Given the description of an element on the screen output the (x, y) to click on. 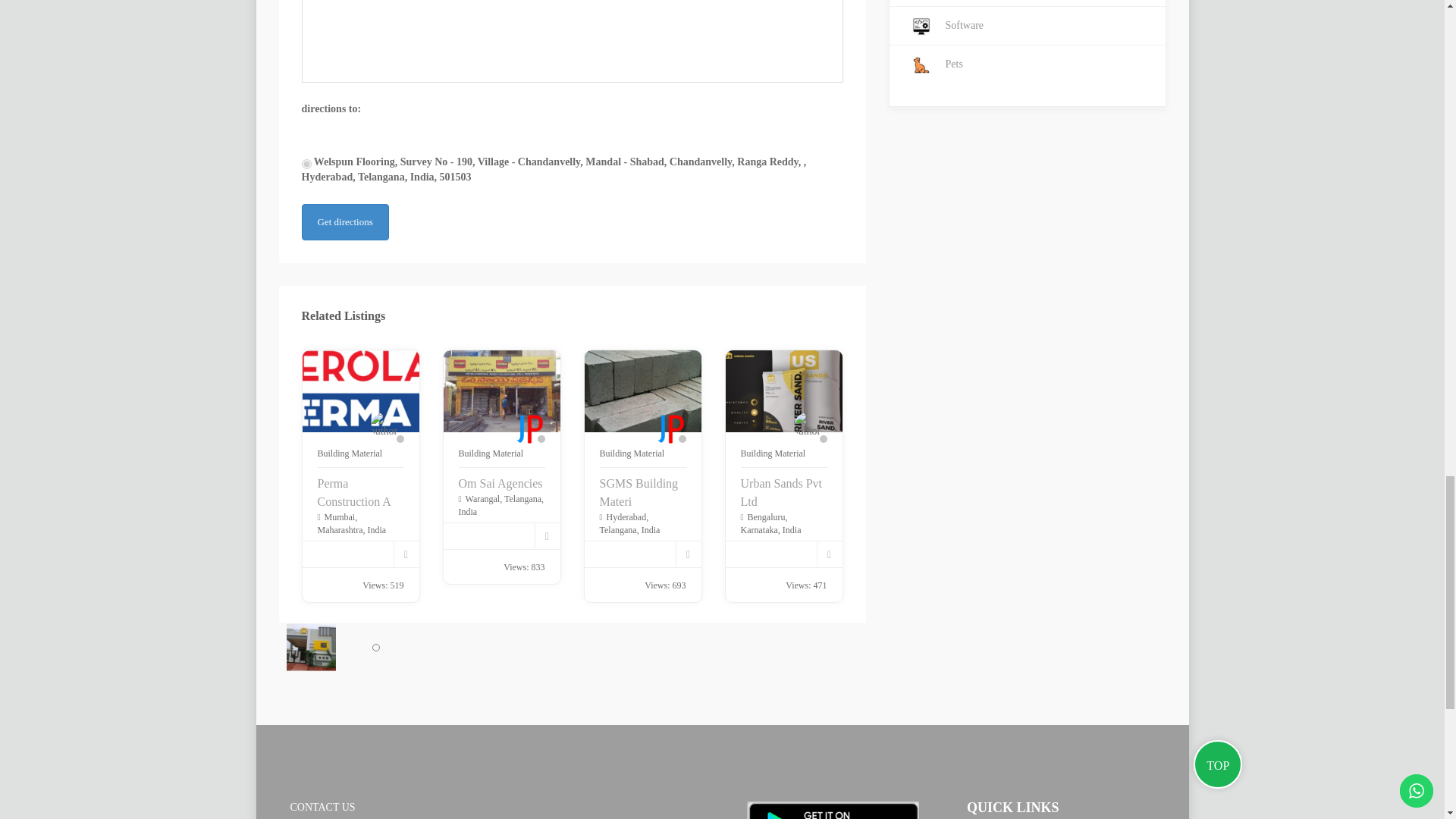
Get directions (344, 221)
17.215269,78.187141 (306, 163)
